Given the description of an element on the screen output the (x, y) to click on. 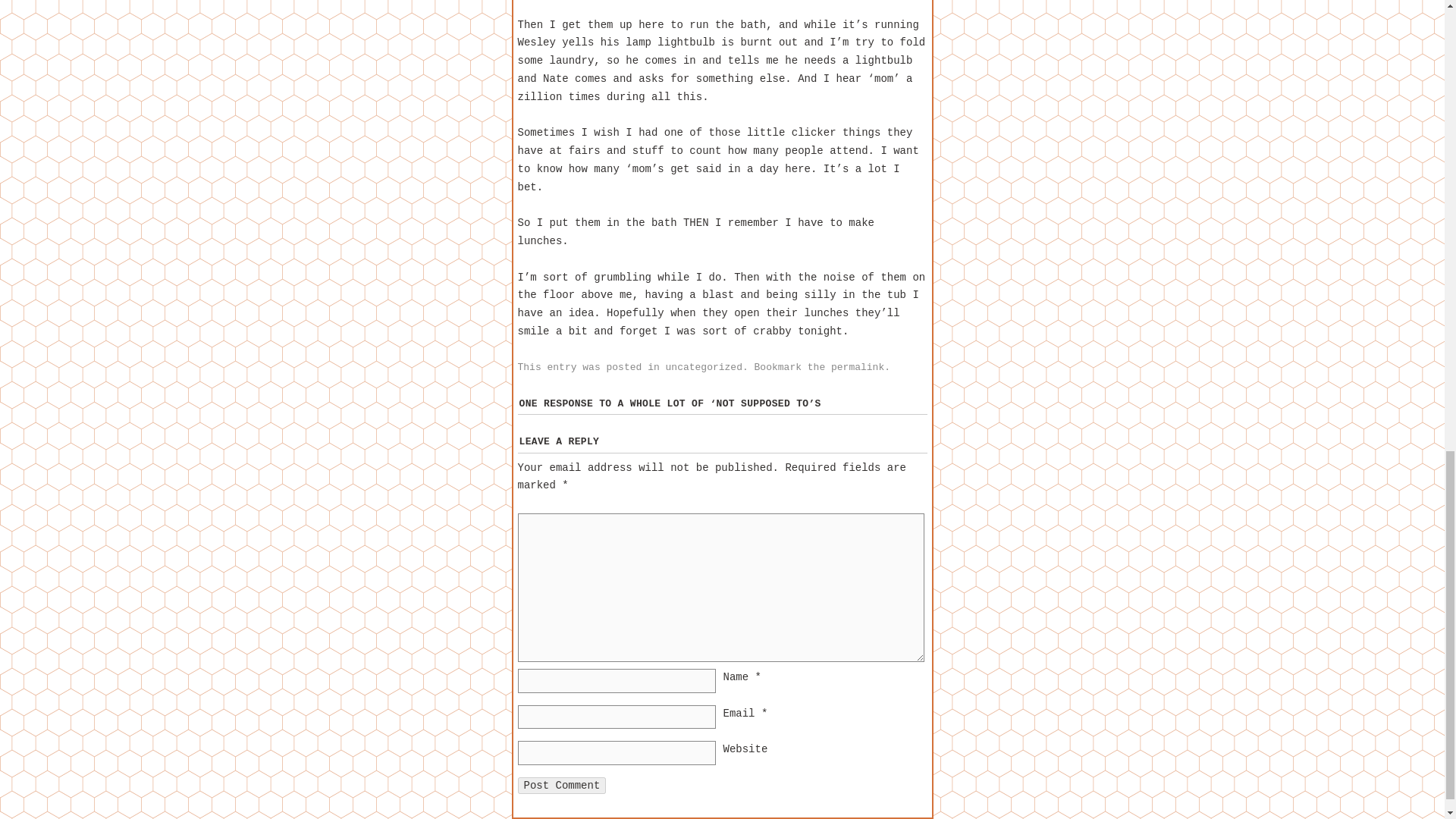
Post Comment (560, 785)
permalink (857, 367)
Post Comment (560, 785)
uncategorized (703, 367)
